Given the description of an element on the screen output the (x, y) to click on. 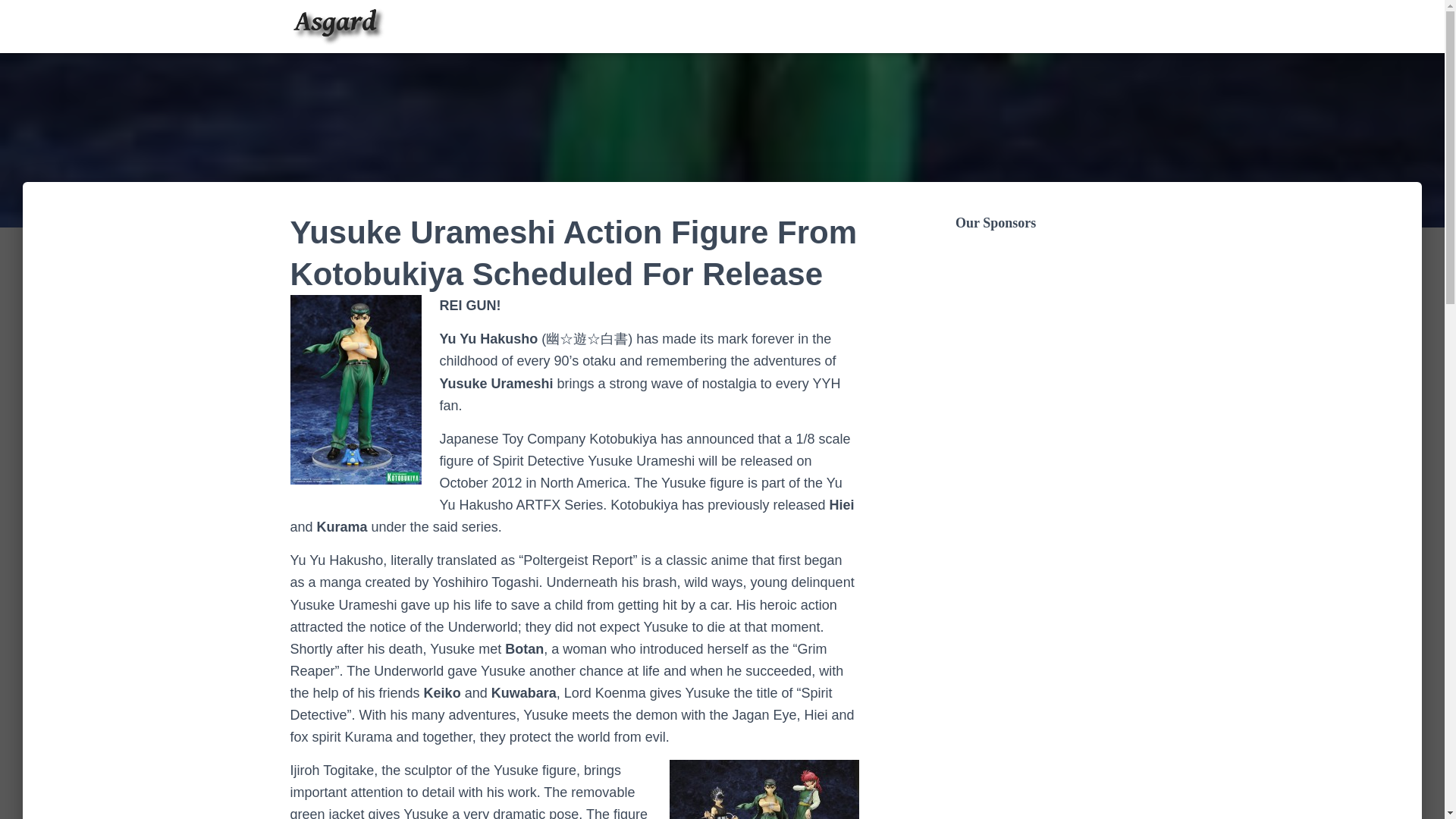
Asgard Anime (337, 26)
yuyu 1 (763, 789)
